Given the description of an element on the screen output the (x, y) to click on. 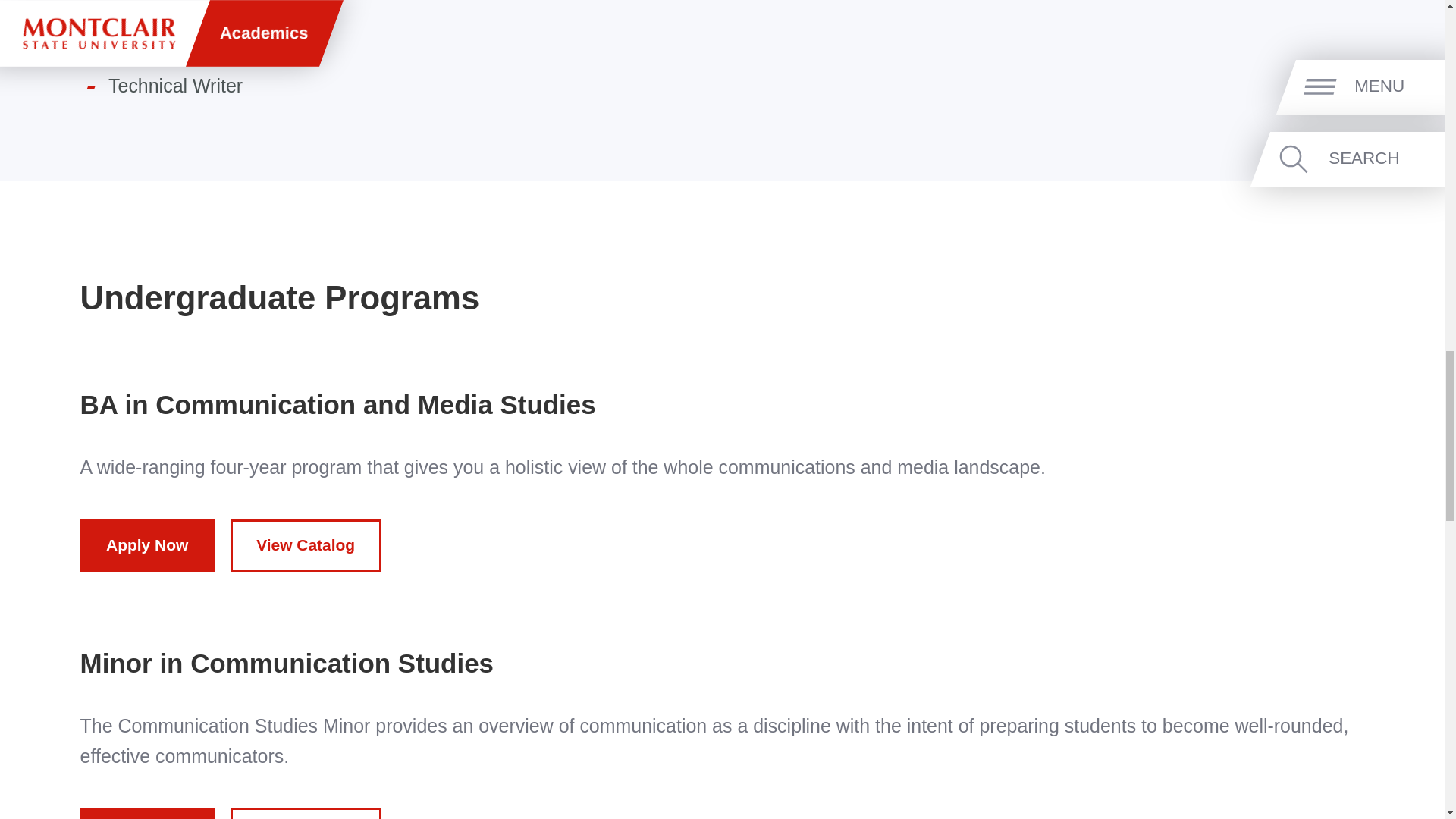
Apply Now (147, 545)
View Catalog (305, 813)
View Catalog (305, 545)
Apply Now (147, 813)
